Given the description of an element on the screen output the (x, y) to click on. 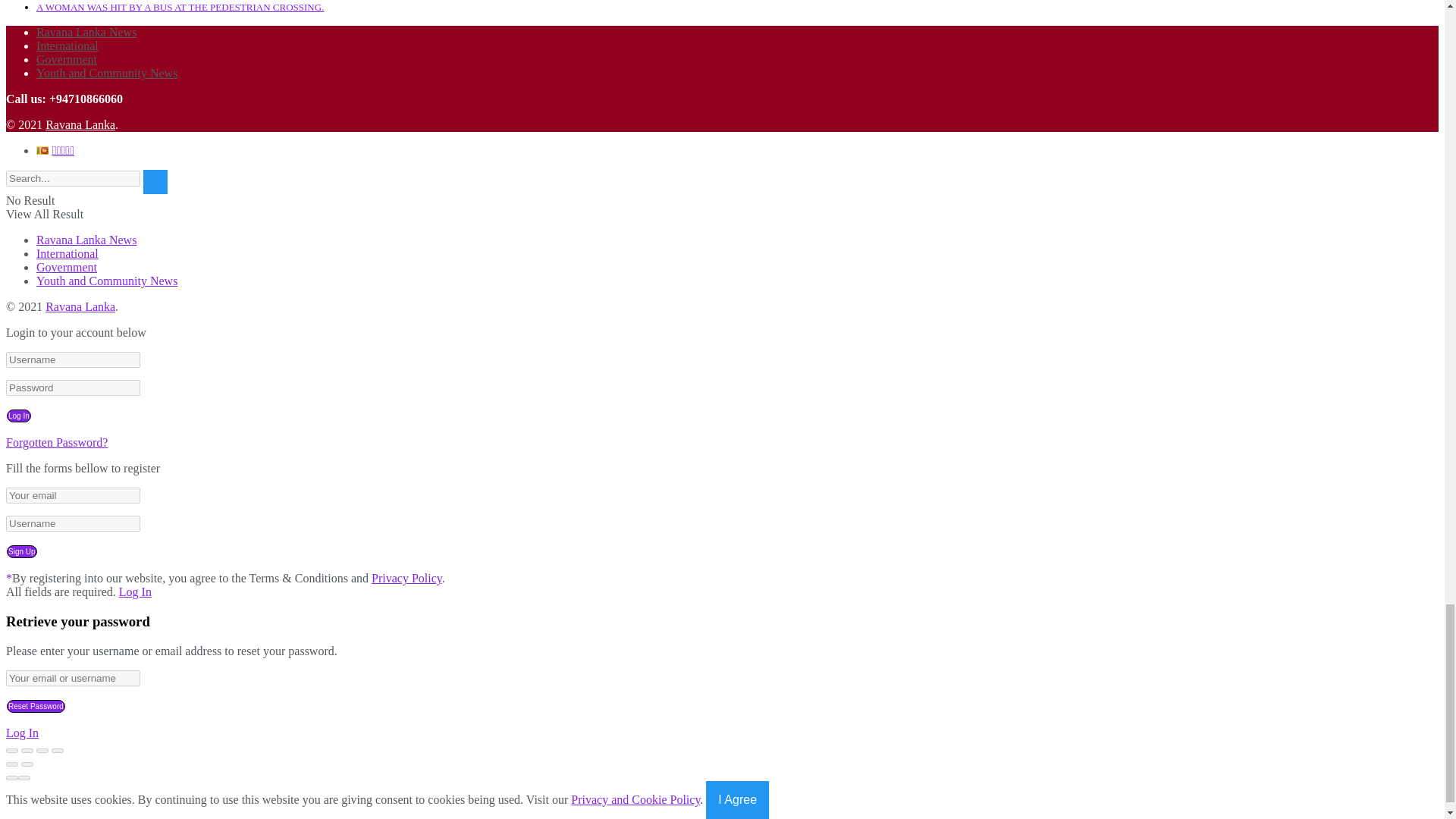
Sign Up (22, 551)
Reset Password (36, 706)
Share (27, 750)
Ravana Lanka News (80, 306)
Toggle fullscreen (42, 750)
Ravana Lanka News (80, 124)
Log In (18, 415)
